Given the description of an element on the screen output the (x, y) to click on. 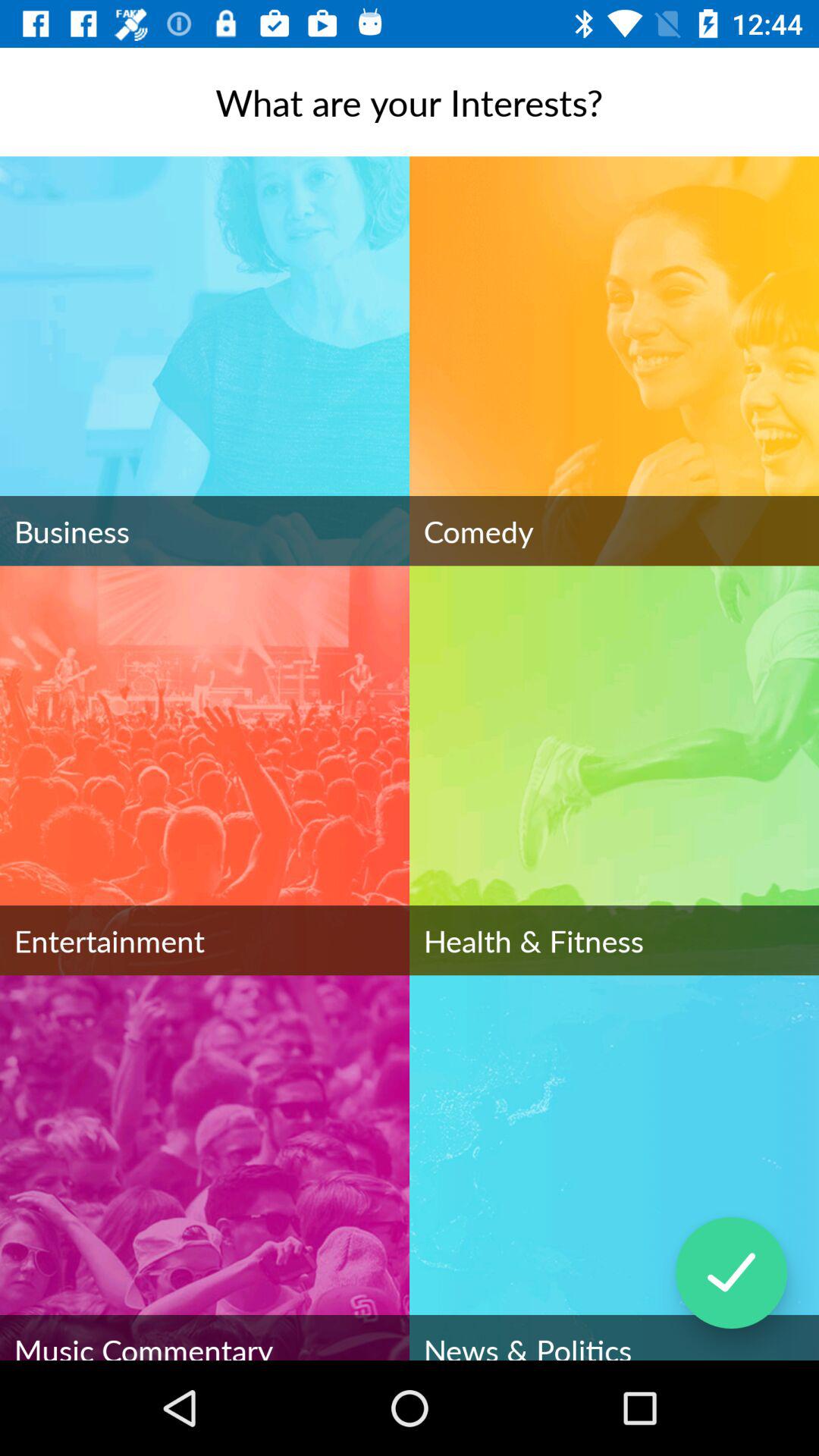
turn off icon above news & politics icon (731, 1272)
